Given the description of an element on the screen output the (x, y) to click on. 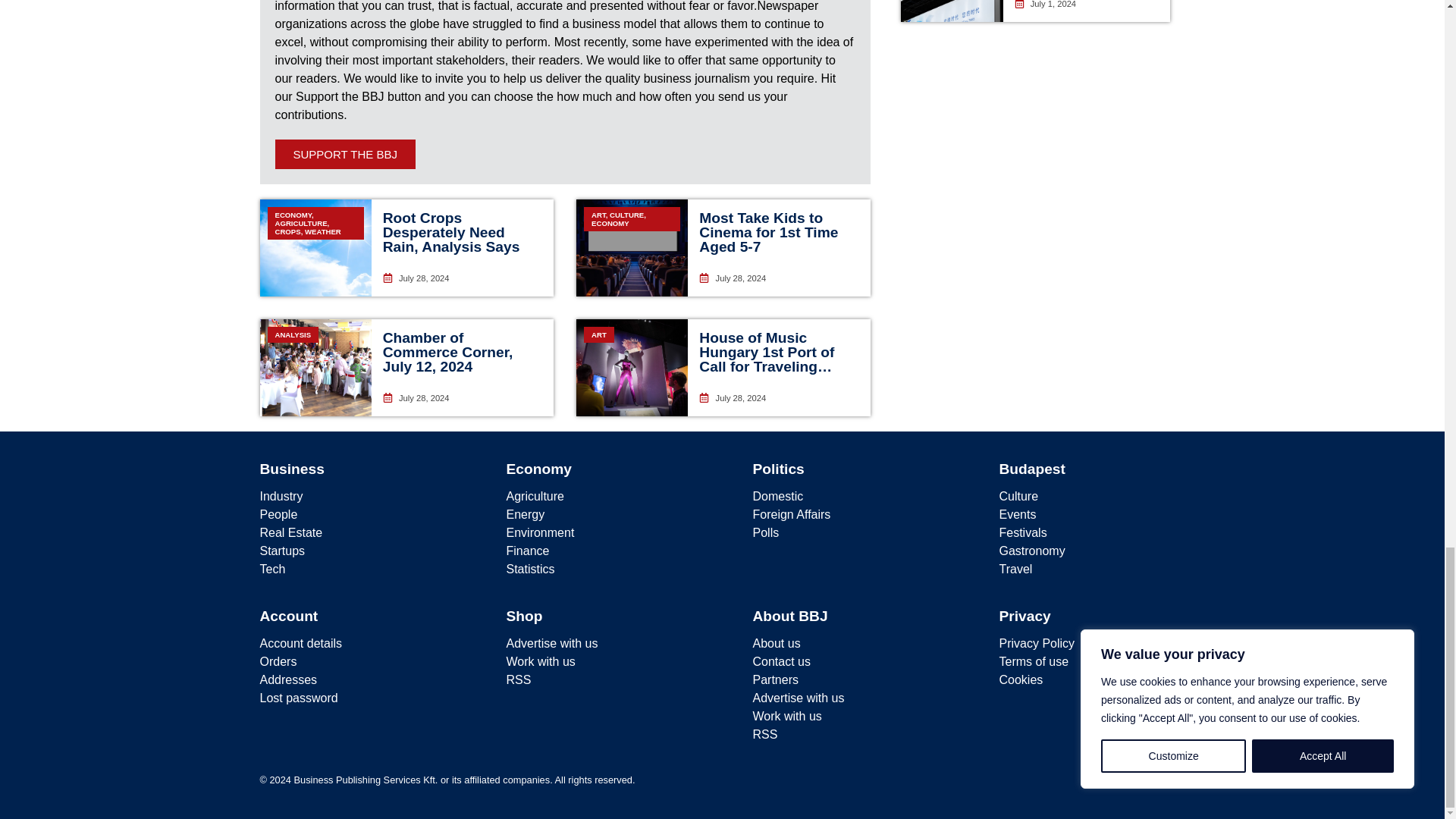
Most Take Kids to Cinema for 1st Time Aged 5-7 (768, 231)
ART, CULTURE, ECONOMY (631, 247)
Root Crops Desperately Need Rain, Analysis Says (450, 231)
SUPPORT THE BBJ (344, 153)
ECONOMY, AGRICULTURE, CROPS, WEATHER (315, 247)
ART (631, 367)
Chamber of Commerce Corner, July 12, 2024 (447, 352)
ANALYSIS (315, 367)
